Given the description of an element on the screen output the (x, y) to click on. 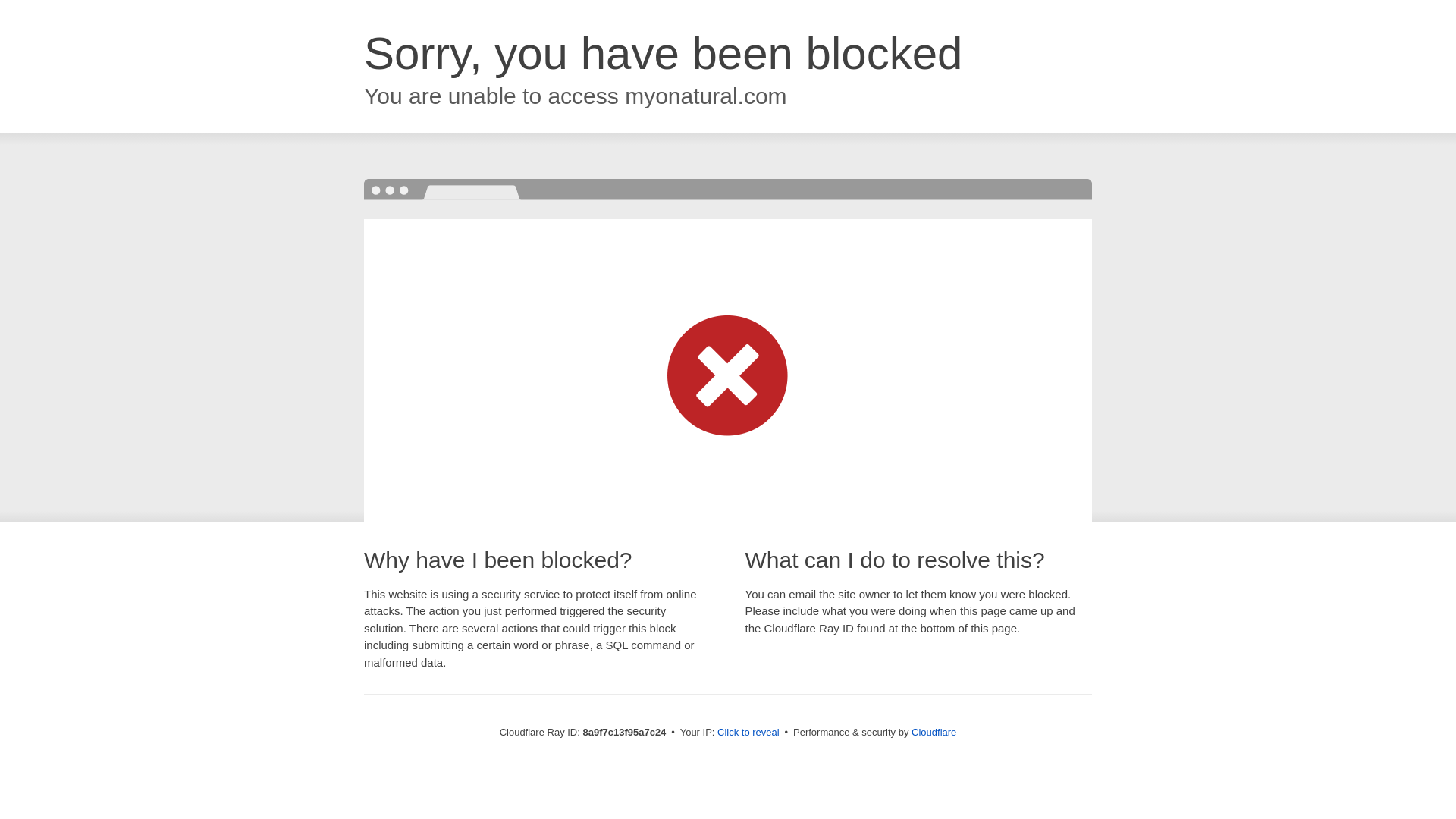
Cloudflare (933, 731)
Click to reveal (747, 732)
